Given the description of an element on the screen output the (x, y) to click on. 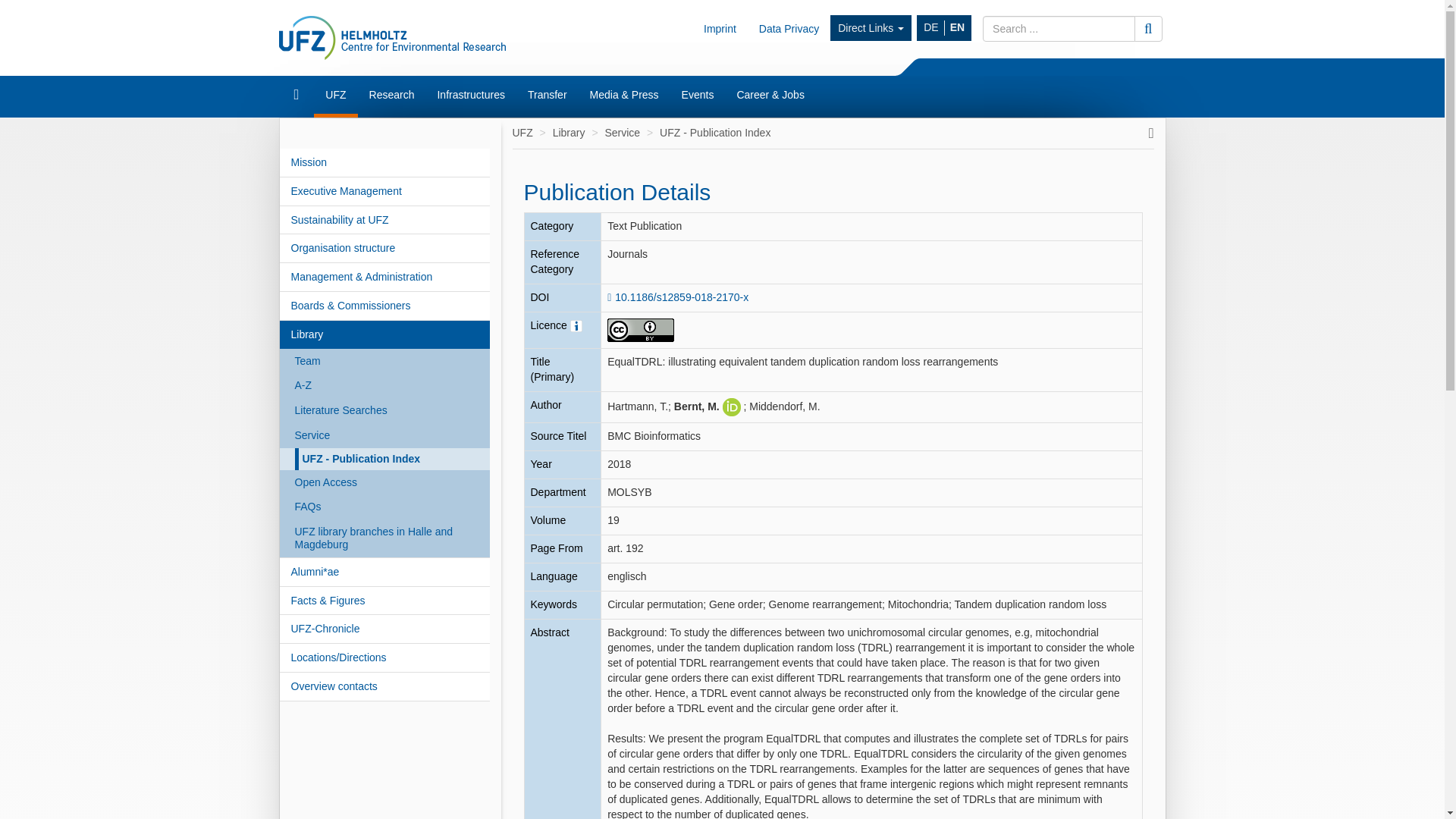
search term (1058, 28)
Data Privacy (788, 28)
Imprint (720, 28)
DE (930, 28)
Direct Links (870, 27)
EN (956, 28)
